Given the description of an element on the screen output the (x, y) to click on. 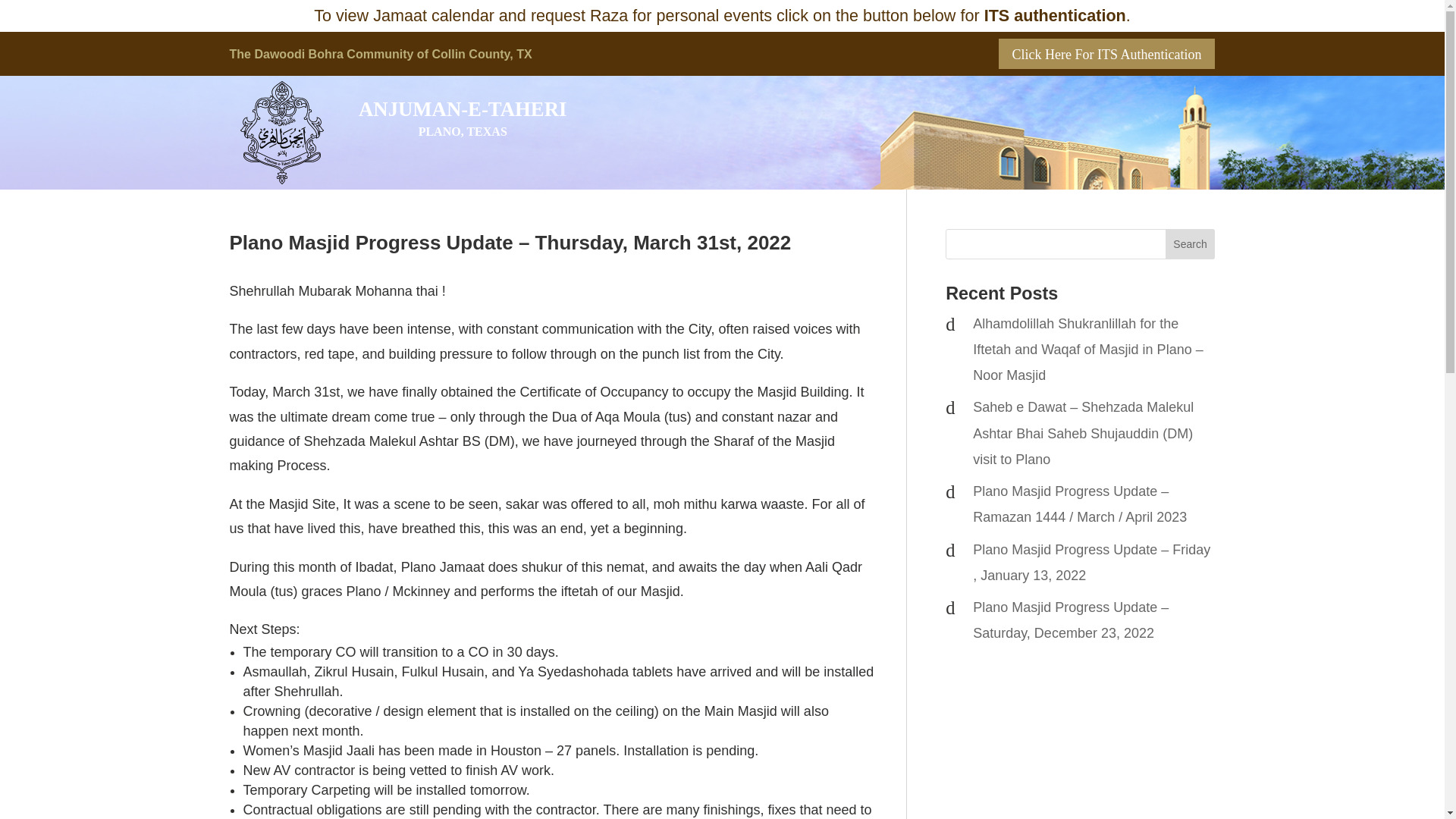
Search (1190, 244)
Click Here For ITS Authentication (1106, 53)
Search (1190, 244)
